Given the description of an element on the screen output the (x, y) to click on. 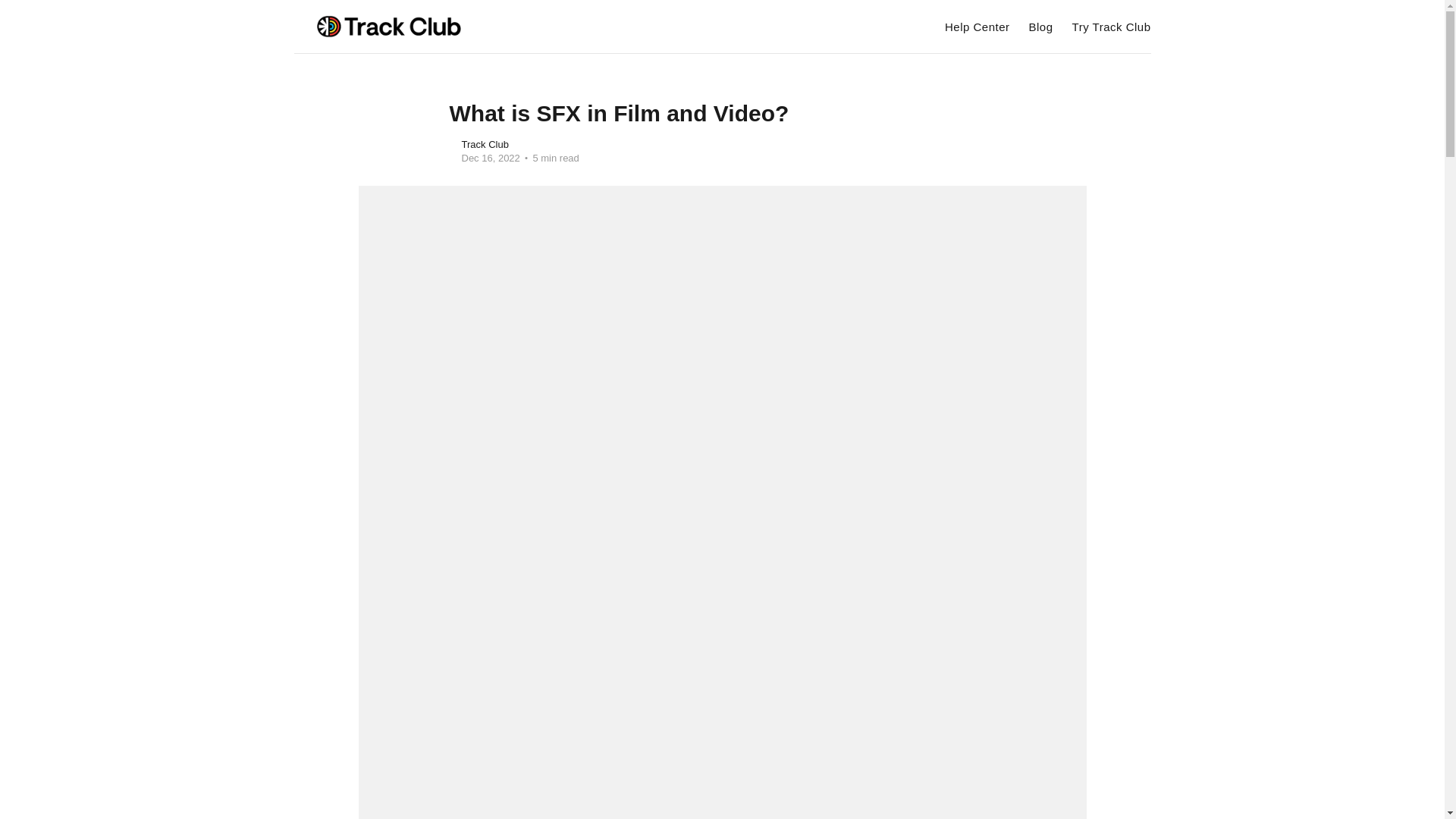
Track Club (484, 143)
Help Center (977, 26)
Try Track Club (1111, 26)
Blog (1039, 26)
